Given the description of an element on the screen output the (x, y) to click on. 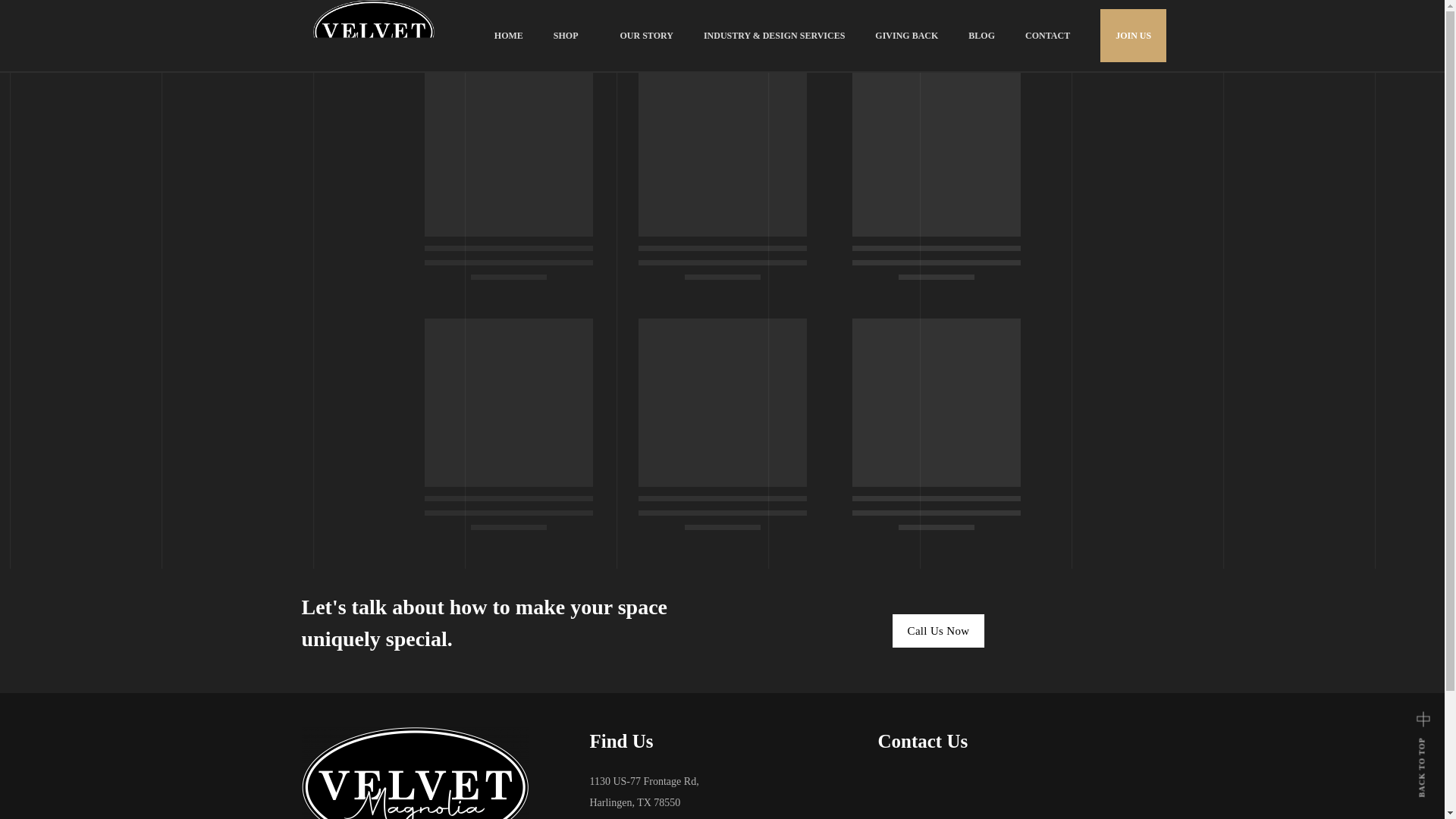
GIVING BACK (906, 35)
OUR STORY (646, 35)
CONTACT (1047, 35)
